Given the description of an element on the screen output the (x, y) to click on. 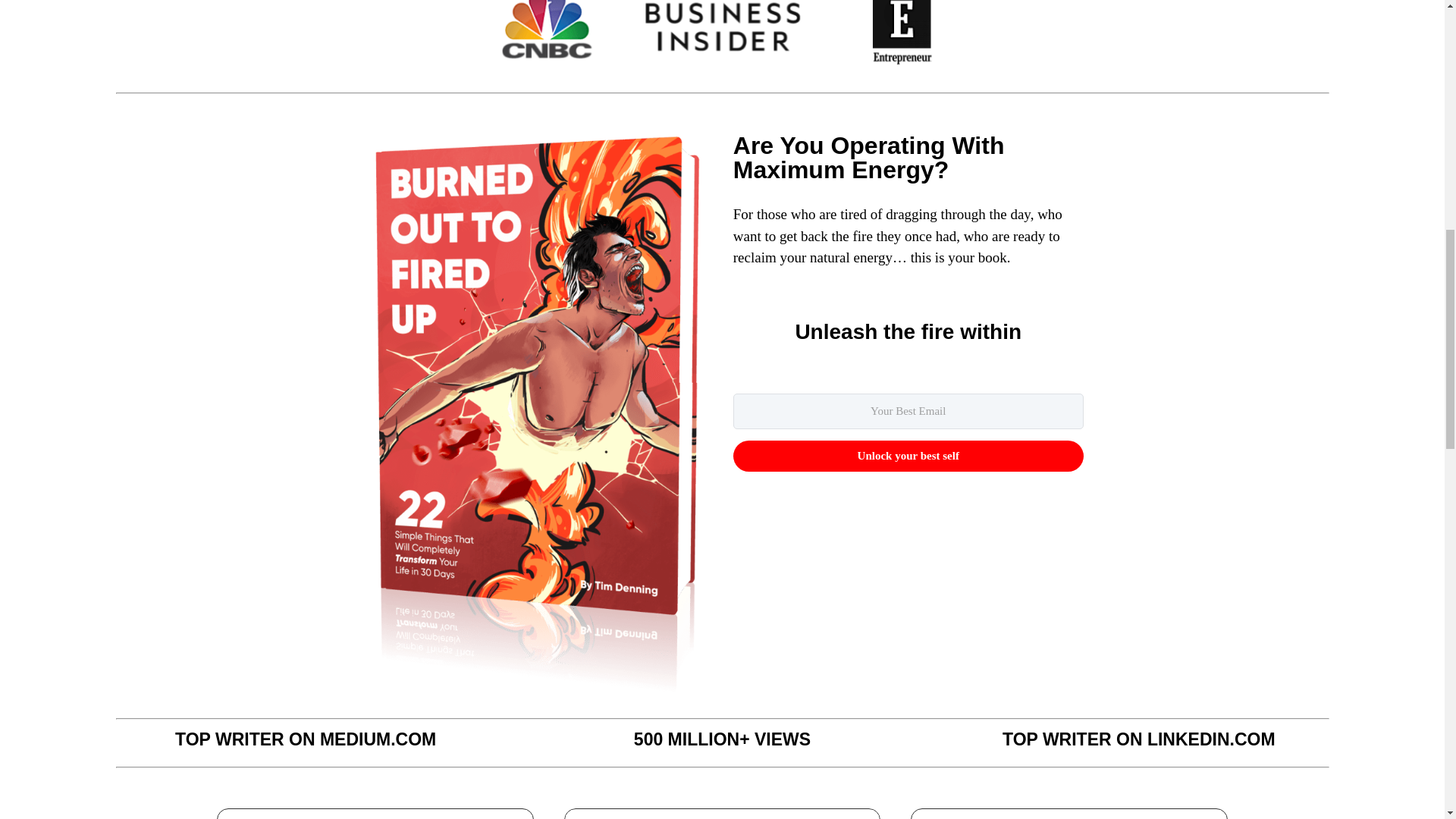
Are You Operating With Maximum Energy? (868, 157)
Unlock your best self (908, 455)
